Given the description of an element on the screen output the (x, y) to click on. 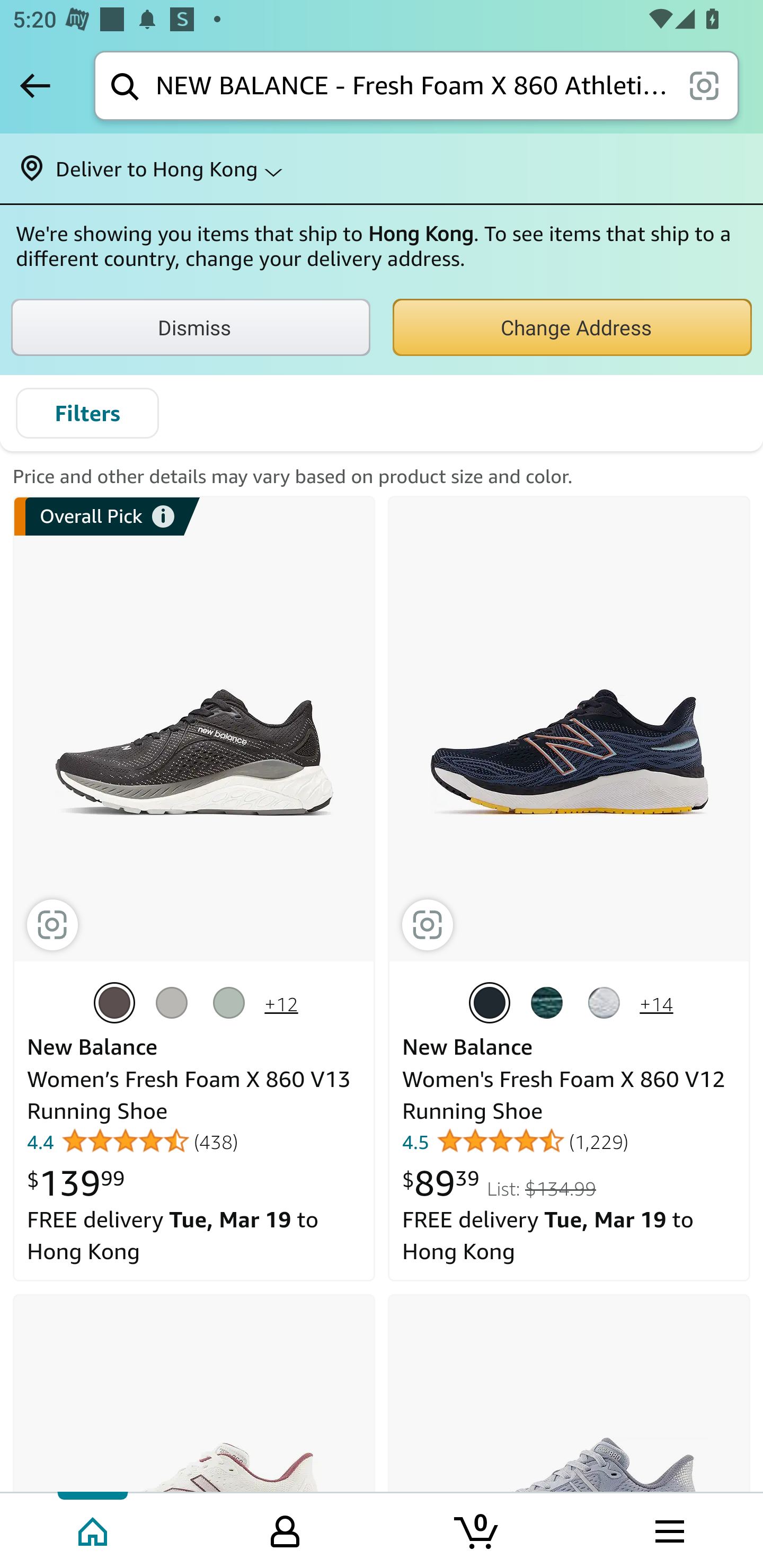
Back (35, 85)
scan it (704, 85)
Deliver to Hong Kong ⌵ (381, 168)
Dismiss (190, 327)
Change Address (571, 327)
Filters (87, 413)
Black/White/Castlerock (118, 1002)
Aluminum Grey/Quartz Grey/Blacktop (175, 1002)
Blue/Steel/Cosmic Pineapple (232, 1002)
Eclipse/Spring Tide/Vibrant Orange (492, 1002)
Mountain Teal/Sulphur Yellow (550, 1002)
White/Helium (607, 1002)
+12 (281, 1004)
+14 (656, 1004)
Women’s Fresh Foam X 860 V13 Running Shoe (188, 1095)
Women's Fresh Foam X 860 V12 Running Shoe (564, 1095)
Home Tab 1 of 4 (94, 1529)
Your Amazon.com Tab 2 of 4 (285, 1529)
Cart 0 item Tab 3 of 4 0 (477, 1529)
Browse menu Tab 4 of 4 (668, 1529)
